Given the description of an element on the screen output the (x, y) to click on. 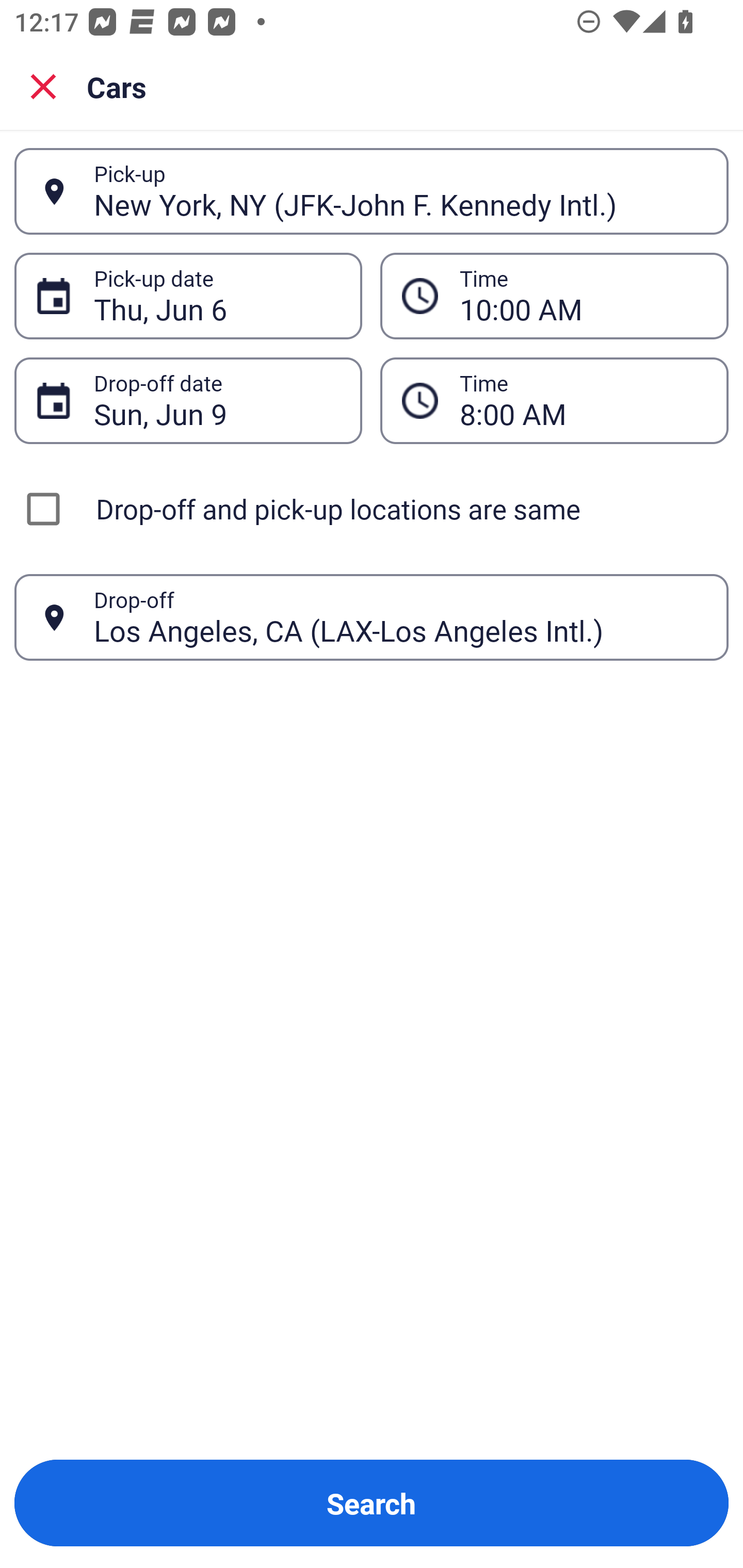
Close search screen (43, 86)
New York, NY (JFK-John F. Kennedy Intl.) Pick-up (371, 191)
New York, NY (JFK-John F. Kennedy Intl.) (399, 191)
Thu, Jun 6 Pick-up date (188, 295)
10:00 AM (554, 295)
Thu, Jun 6 (216, 296)
10:00 AM (582, 296)
Sun, Jun 9 Drop-off date (188, 400)
8:00 AM (554, 400)
Sun, Jun 9 (216, 400)
8:00 AM (582, 400)
Drop-off and pick-up locations are same (371, 508)
Los Angeles, CA (LAX-Los Angeles Intl.) Drop-off (371, 616)
Los Angeles, CA (LAX-Los Angeles Intl.) (399, 616)
Search Button Search (371, 1502)
